Given the description of an element on the screen output the (x, y) to click on. 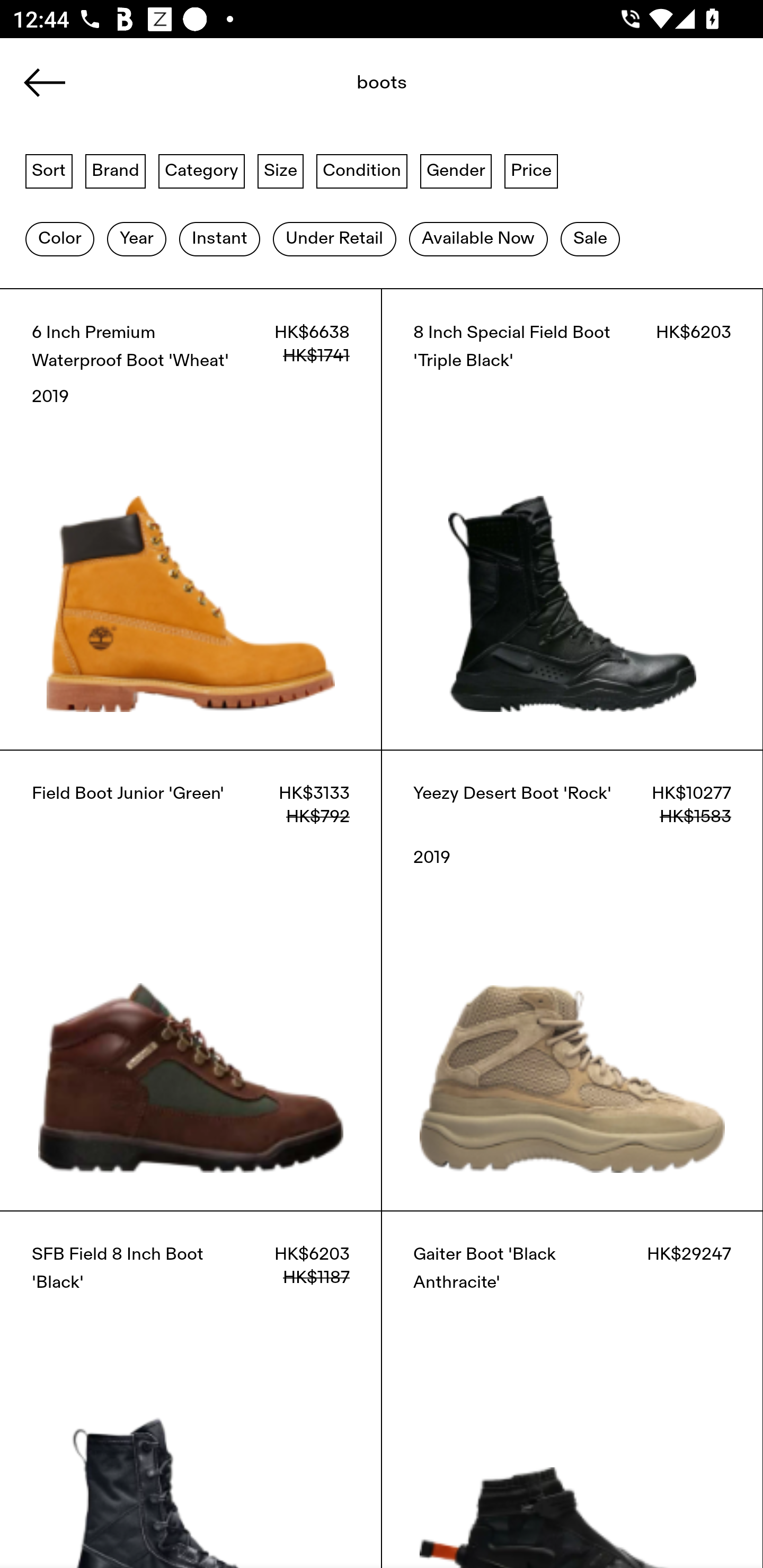
running shoes (340, 88)
Sort (48, 170)
Brand (115, 170)
Category (201, 170)
Size (280, 170)
Condition (361, 170)
Gender (455, 170)
Price (530, 170)
Color (59, 239)
Year (136, 239)
Instant (219, 239)
Under Retail (334, 239)
Available Now (477, 239)
Sale (589, 239)
8 Inch Special Field Boot 'Triple Black' HK$6203 (572, 518)
Field Boot Junior 'Green' HK$3133 HK$792 (190, 979)
Yeezy Desert Boot 'Rock' HK$10277 HK$1583 2019 (572, 979)
SFB Field 8 Inch Boot 'Black' HK$6203 HK$1187 (190, 1389)
Gaiter Boot 'Black Anthracite' HK$29247 (572, 1389)
